Given the description of an element on the screen output the (x, y) to click on. 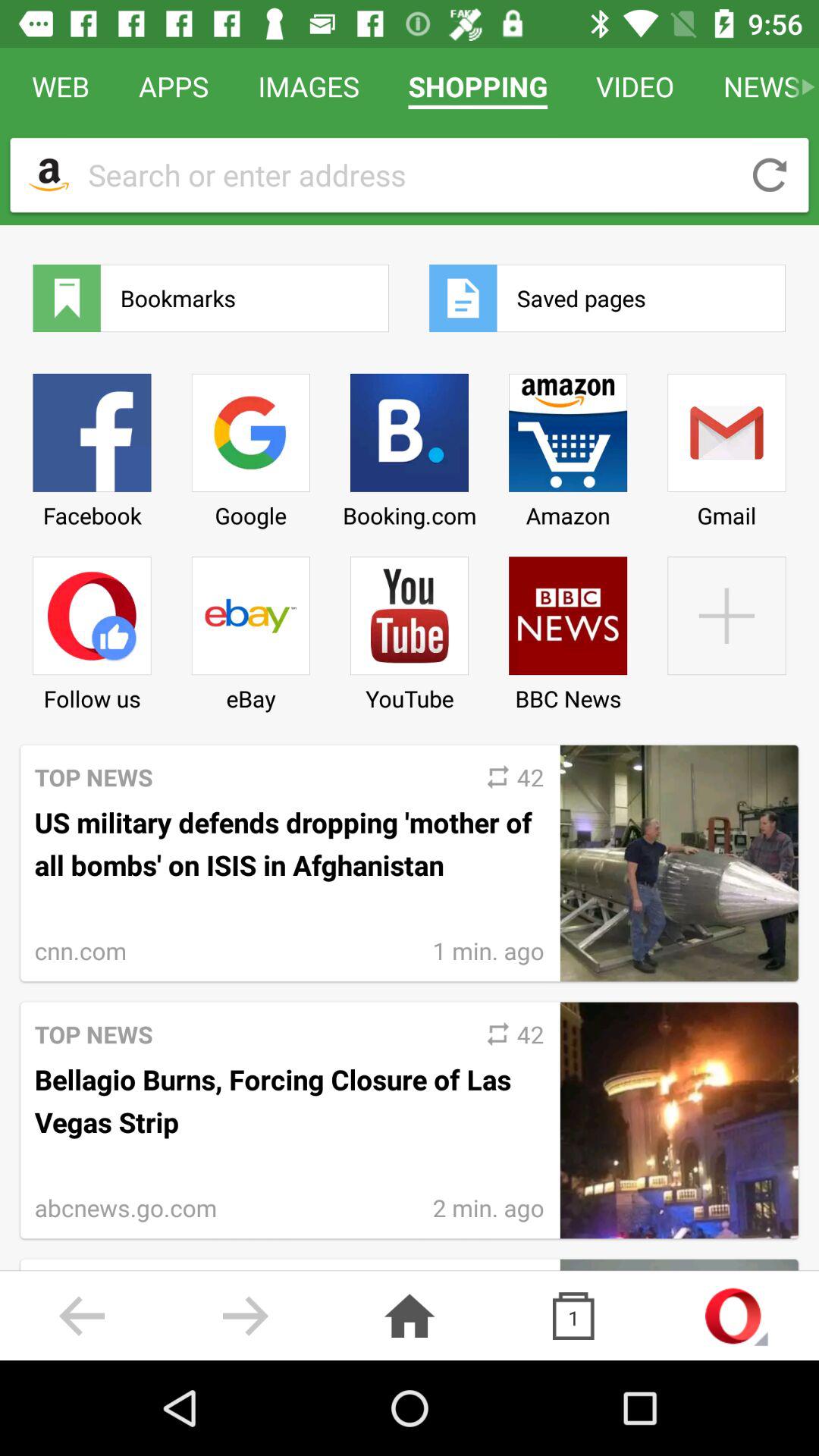
flip until the video item (634, 86)
